Given the description of an element on the screen output the (x, y) to click on. 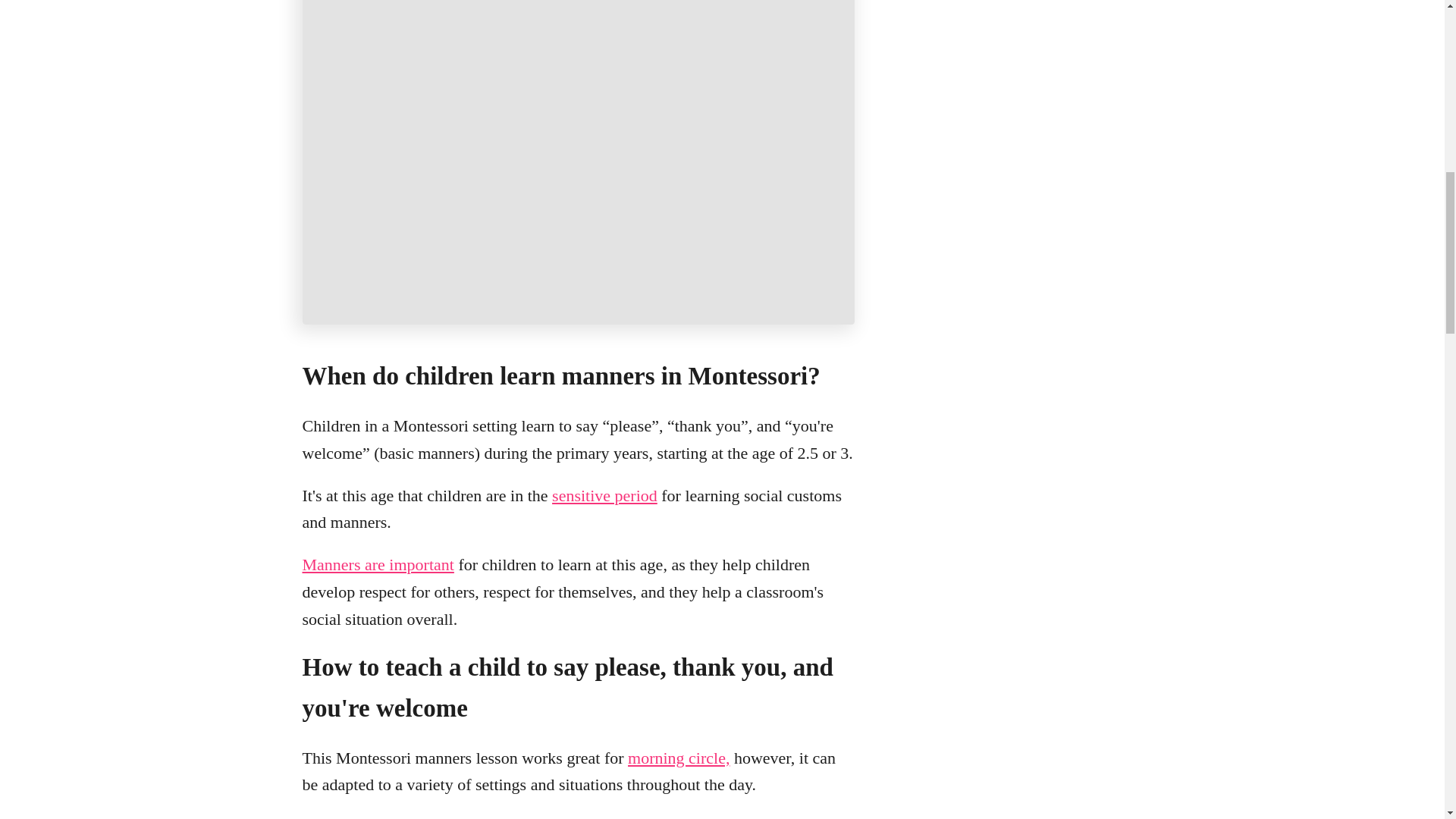
morning circle, (678, 757)
sensitive period (604, 495)
Manners are important (376, 564)
